Given the description of an element on the screen output the (x, y) to click on. 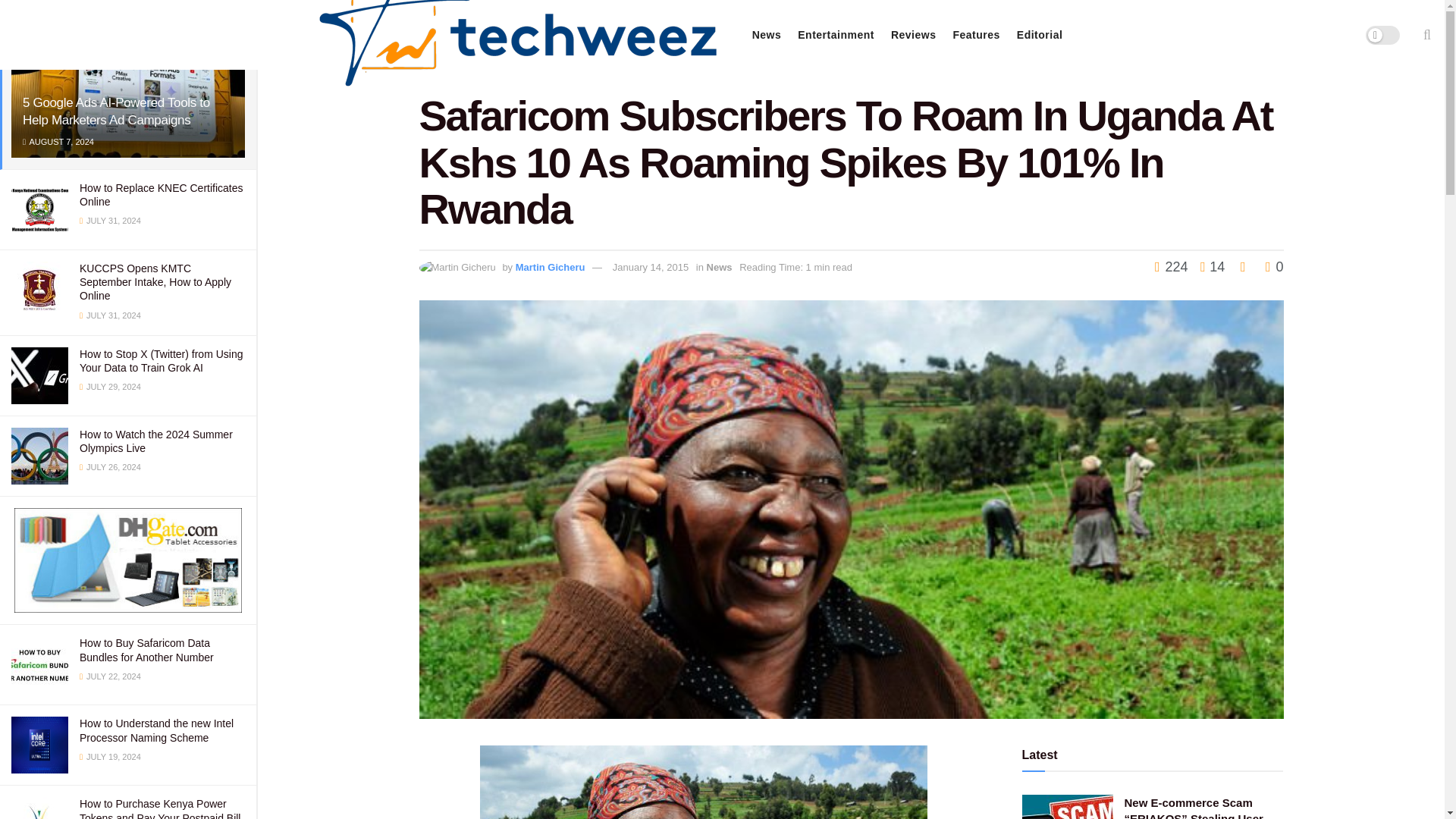
News (766, 34)
Features (975, 34)
Editorial (1039, 34)
5 Google Ads AI-Powered Tools to Help Marketers Ad Campaigns (116, 111)
Entertainment (836, 34)
Reviews (913, 34)
KUCCPS Opens KMTC September Intake, How to Apply Online (155, 282)
How to Understand the new Intel Processor Naming Scheme (156, 729)
How to Watch the 2024 Summer Olympics Live (156, 441)
How to Buy Safaricom Data Bundles for Another Number (147, 649)
How to Replace KNEC Certificates Online (161, 194)
DHgate Tablet Cases deals (127, 559)
